Given the description of an element on the screen output the (x, y) to click on. 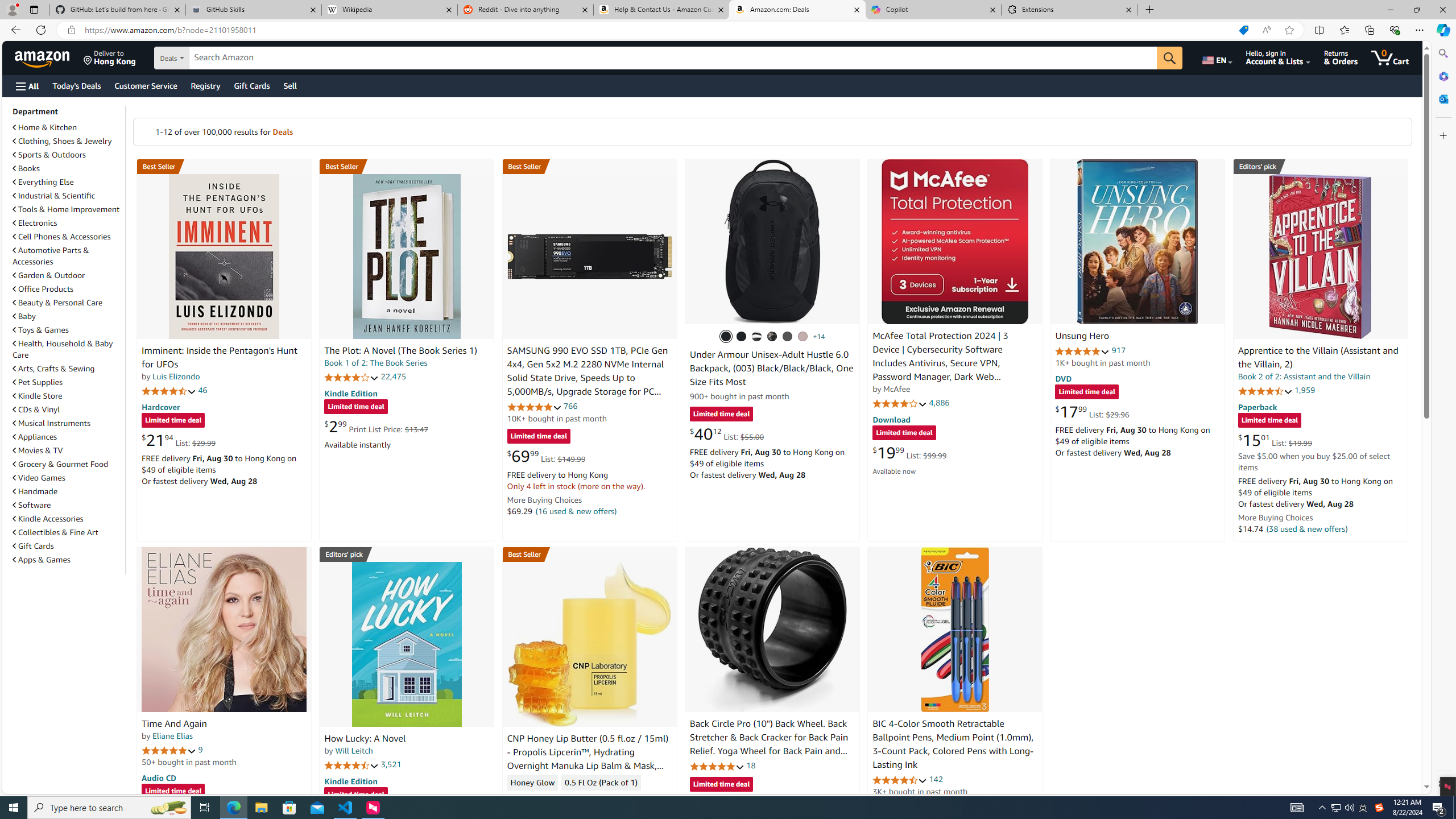
46 (203, 390)
Book 1 of 2: The Book Series (376, 362)
View site information (70, 29)
Search Amazon (673, 57)
(16 used & new offers) (576, 511)
Office Products (43, 289)
Kindle Store (67, 395)
Wikipedia (390, 9)
App bar (728, 29)
Beauty & Personal Care (58, 302)
